Given the description of an element on the screen output the (x, y) to click on. 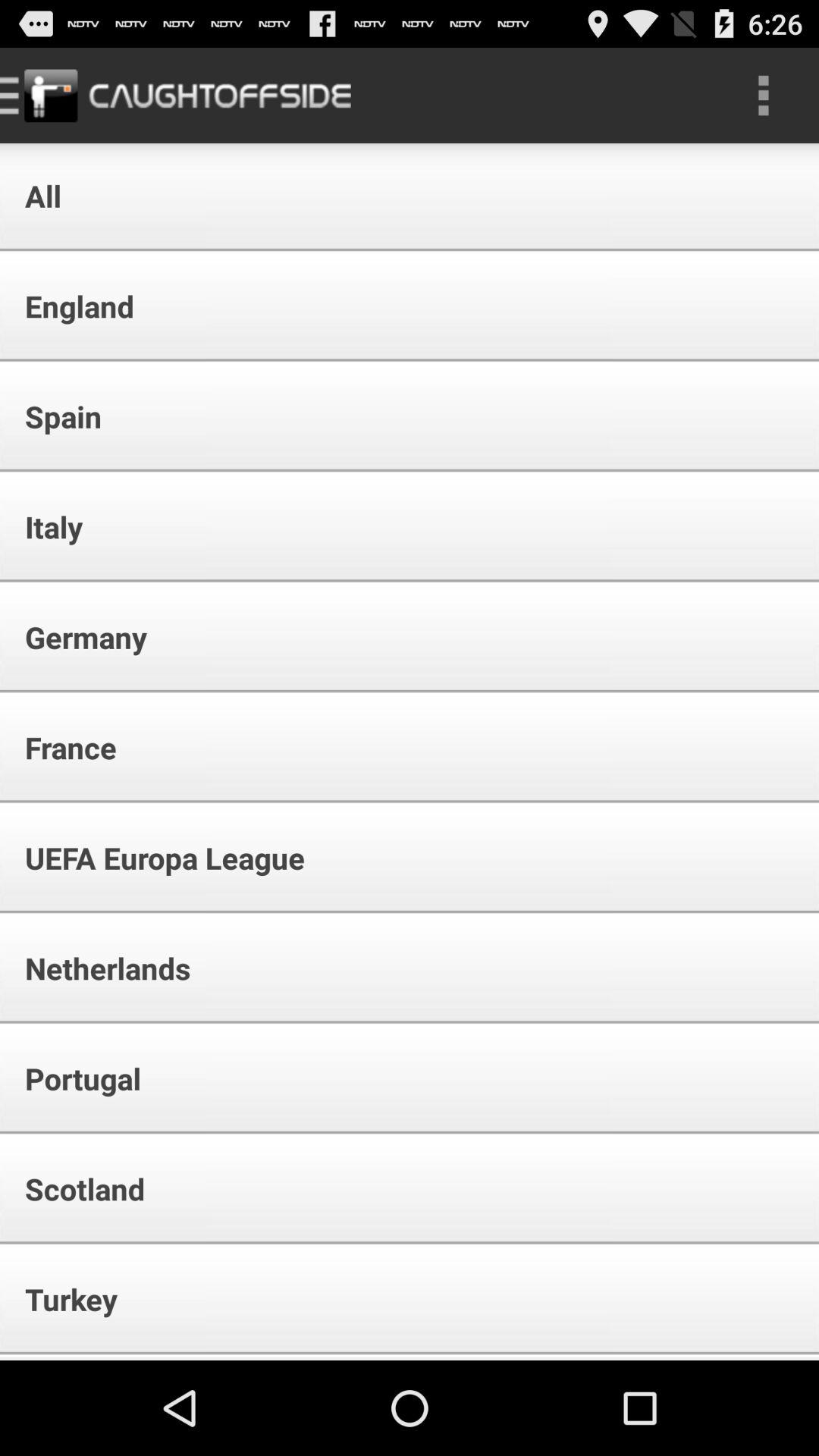
turn off icon above the turkey item (75, 1188)
